Given the description of an element on the screen output the (x, y) to click on. 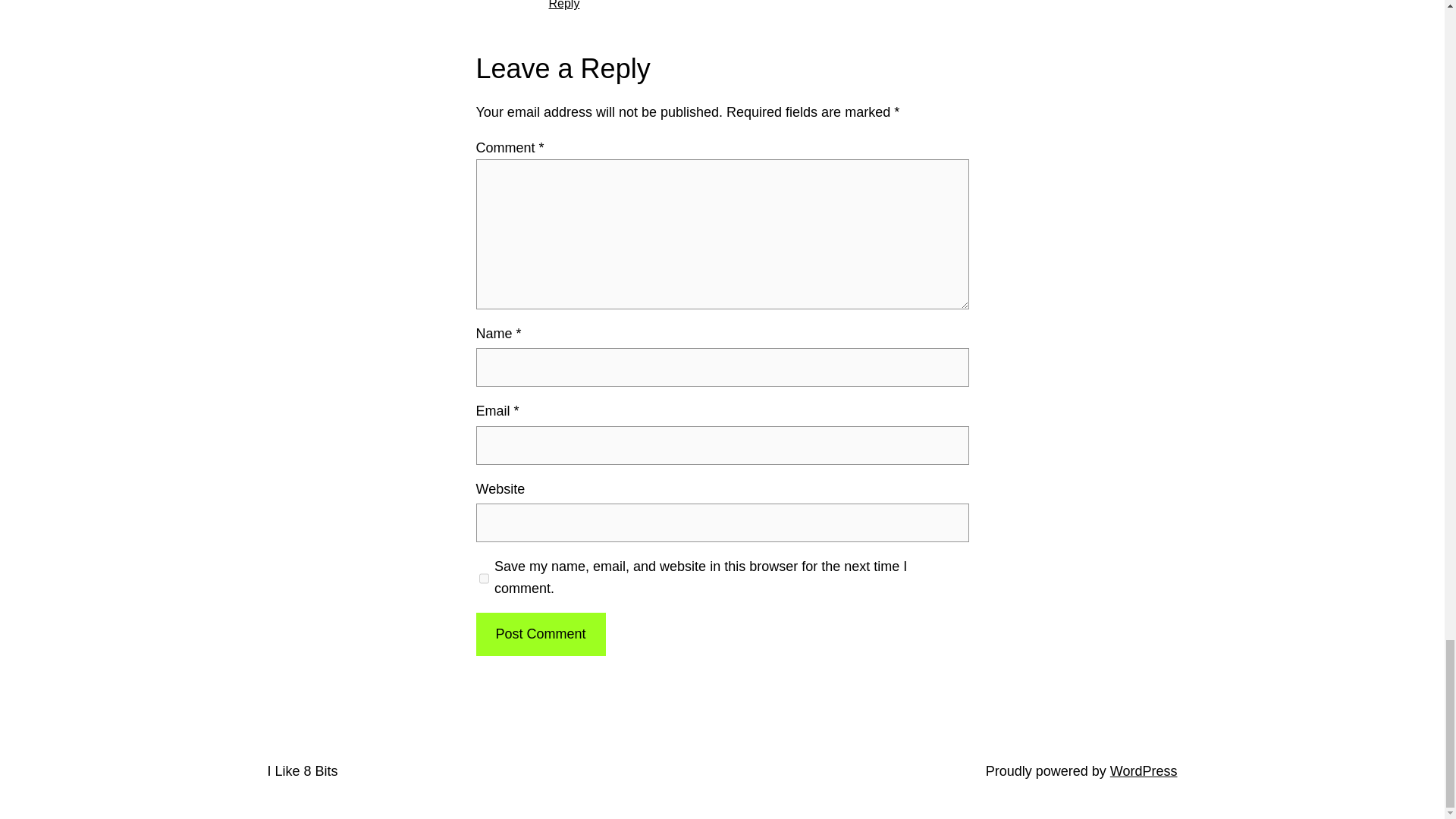
Post Comment (540, 634)
Reply (563, 4)
I Like 8 Bits (301, 770)
Post Comment (540, 634)
WordPress (1143, 770)
